Given the description of an element on the screen output the (x, y) to click on. 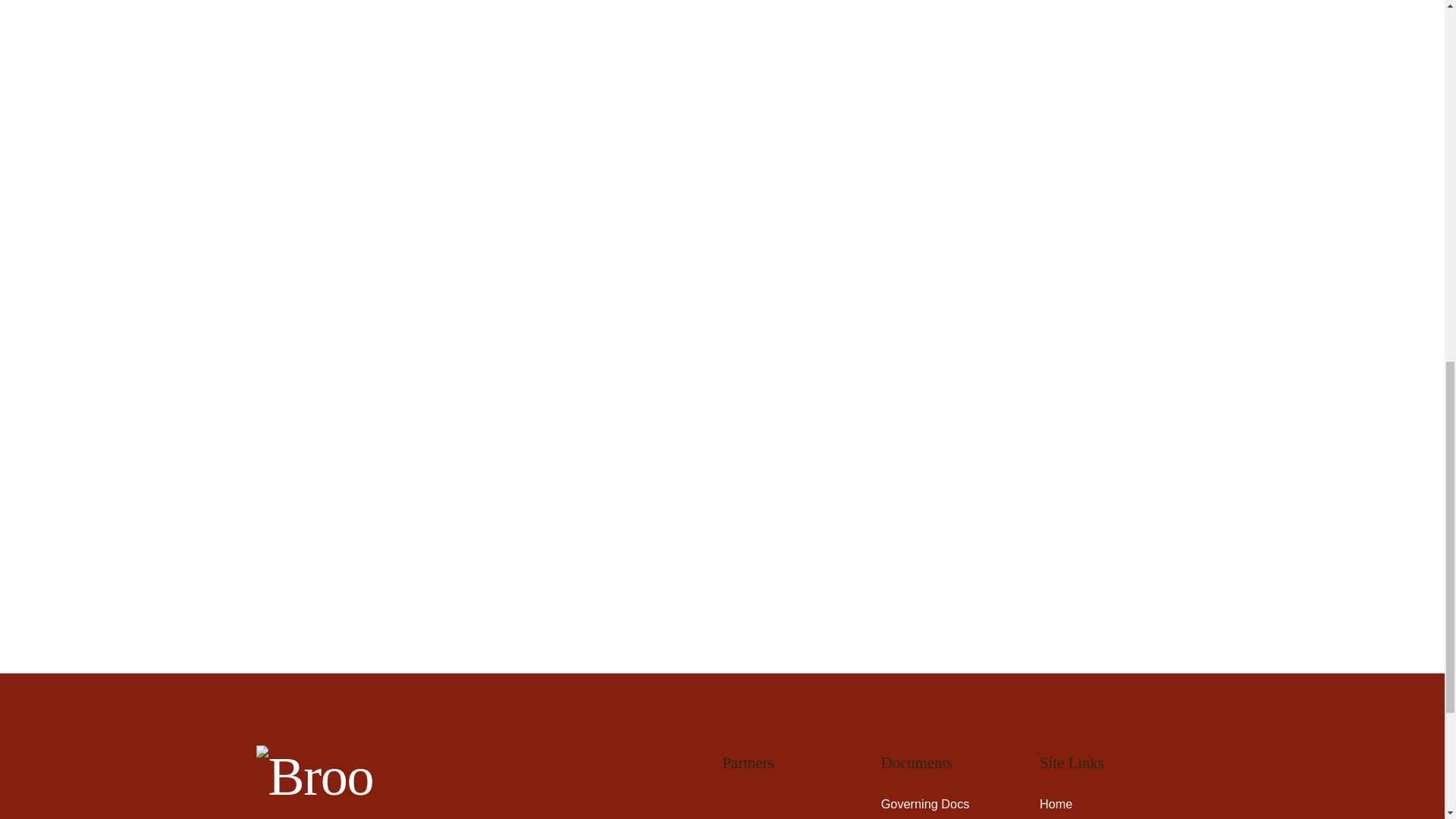
Governing Docs (924, 803)
Home (1055, 803)
